Given the description of an element on the screen output the (x, y) to click on. 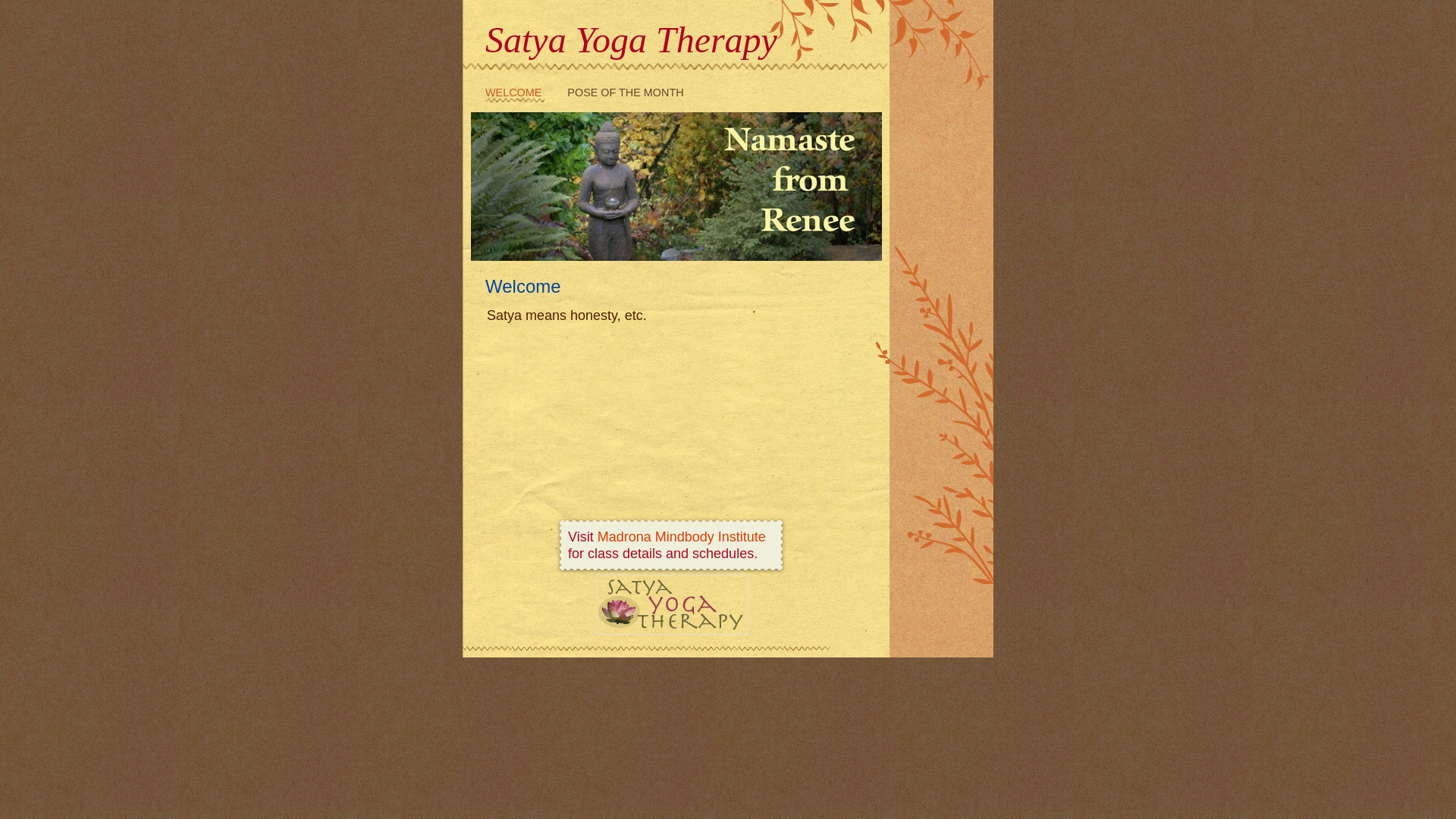
POSE OF THE MONTH Element type: text (625, 94)
WELCOME Element type: text (514, 94)
Madrona Mindbody Institute Element type: text (681, 536)
